Given the description of an element on the screen output the (x, y) to click on. 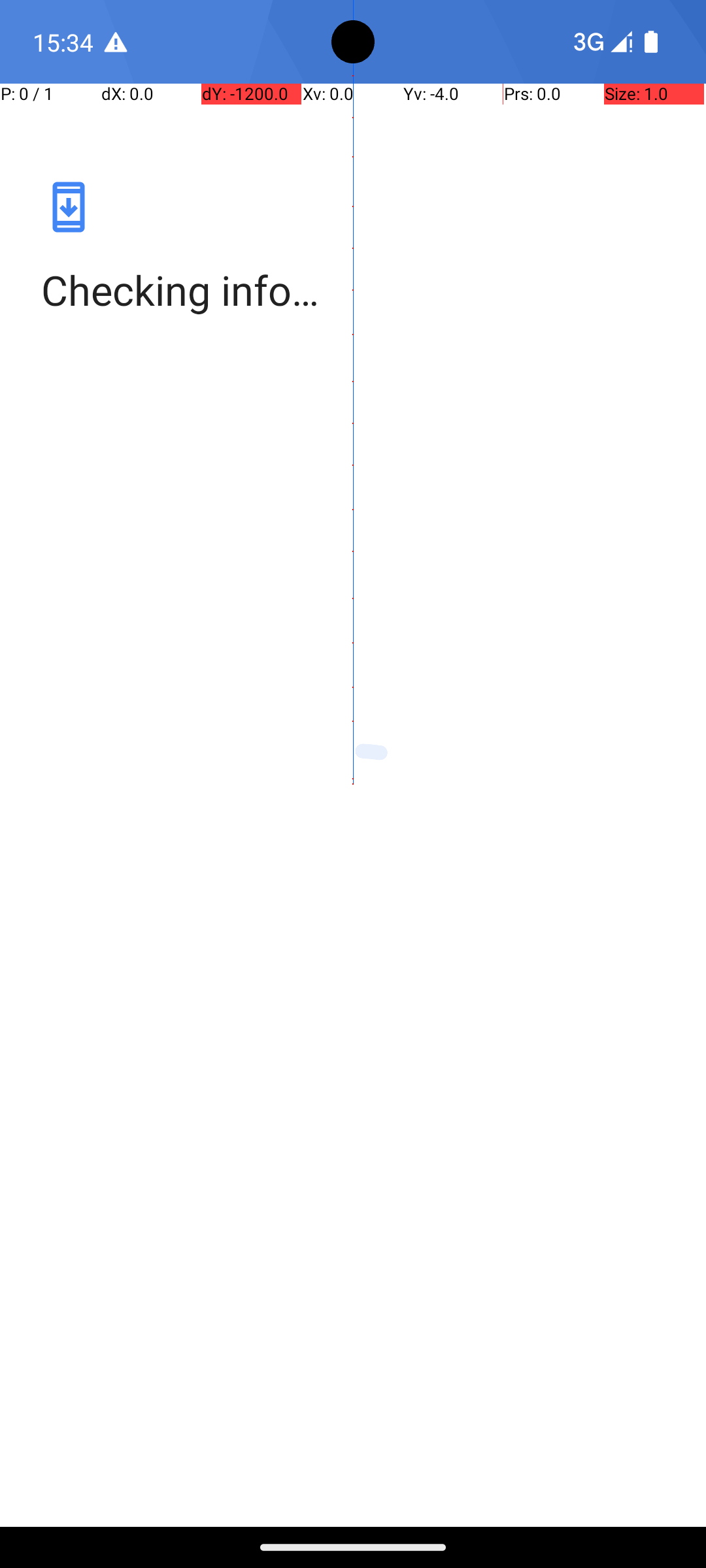
Checking info… Element type: android.widget.TextView (352, 289)
